Given the description of an element on the screen output the (x, y) to click on. 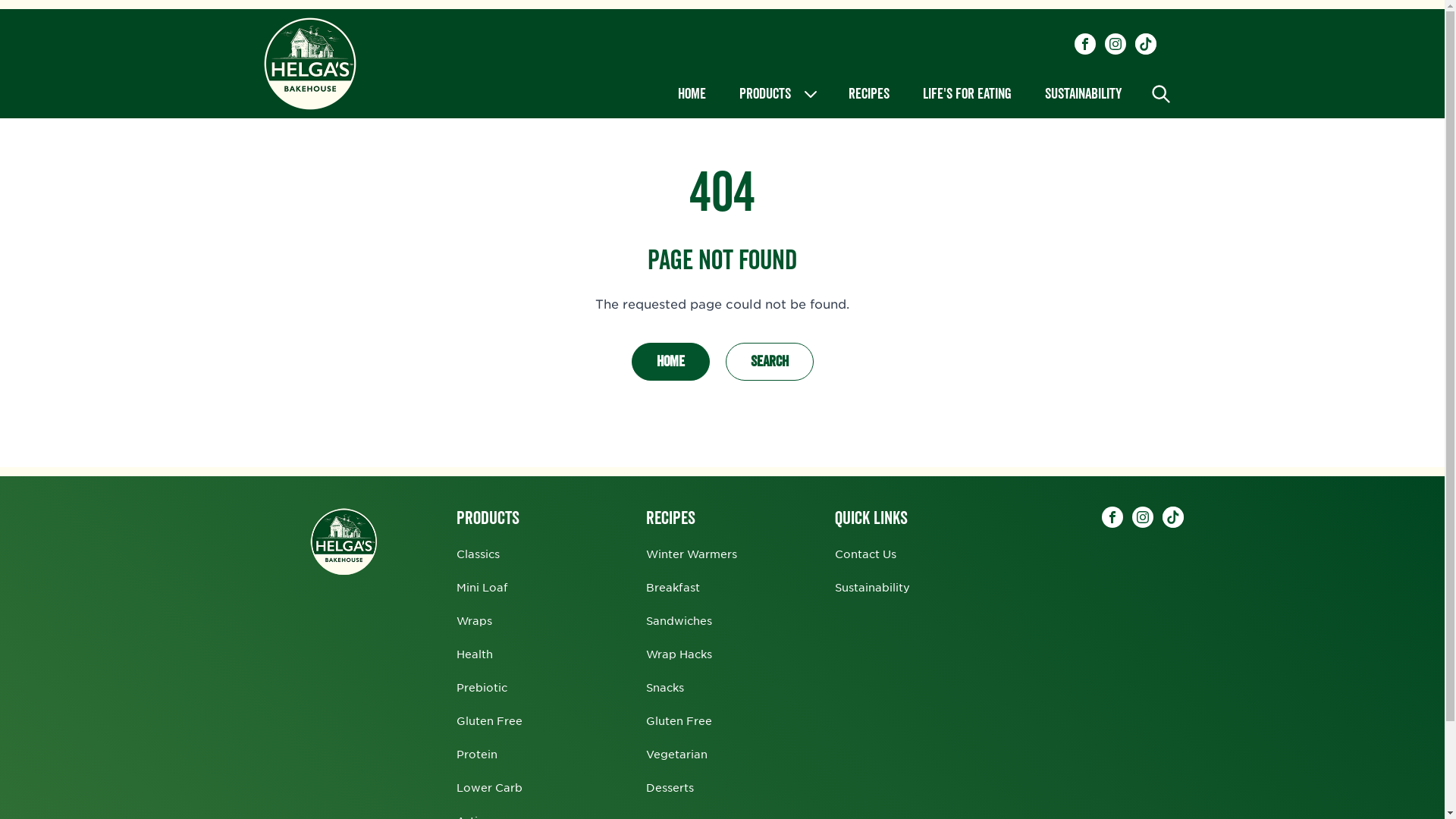
RECIPES Element type: text (868, 93)
Prebiotic Element type: text (481, 686)
Visit our Facebook page. Element type: text (1084, 43)
Wraps Element type: text (474, 620)
Visit our Facebook page. Element type: text (1111, 516)
Desserts Element type: text (669, 786)
Visit our One_url page. Element type: text (1172, 516)
Skip to main content Element type: text (0, 0)
Visit our One_url page. Element type: text (1144, 43)
Home Element type: text (669, 361)
Protein Element type: text (476, 753)
Mini Loaf Element type: text (482, 586)
Health Element type: text (474, 653)
Vegetarian Element type: text (676, 753)
Search Element type: text (768, 361)
Contact Us Element type: text (865, 553)
PRODUCTS Element type: text (776, 93)
Visit our Instagram page. Element type: text (1141, 516)
Winter Warmers Element type: text (691, 553)
Sandwiches Element type: text (679, 620)
Breakfast Element type: text (672, 586)
Classics Element type: text (477, 553)
Lower Carb Element type: text (489, 786)
Sustainability Element type: text (872, 586)
Snacks Element type: text (665, 686)
SUSTAINABILITY Element type: text (1083, 93)
HOME Element type: text (691, 93)
Visit our Instagram page. Element type: text (1114, 43)
Gluten Free Element type: text (489, 720)
LIFE'S FOR EATING Element type: text (966, 93)
Wrap Hacks Element type: text (679, 653)
Gluten Free Element type: text (679, 720)
